Given the description of an element on the screen output the (x, y) to click on. 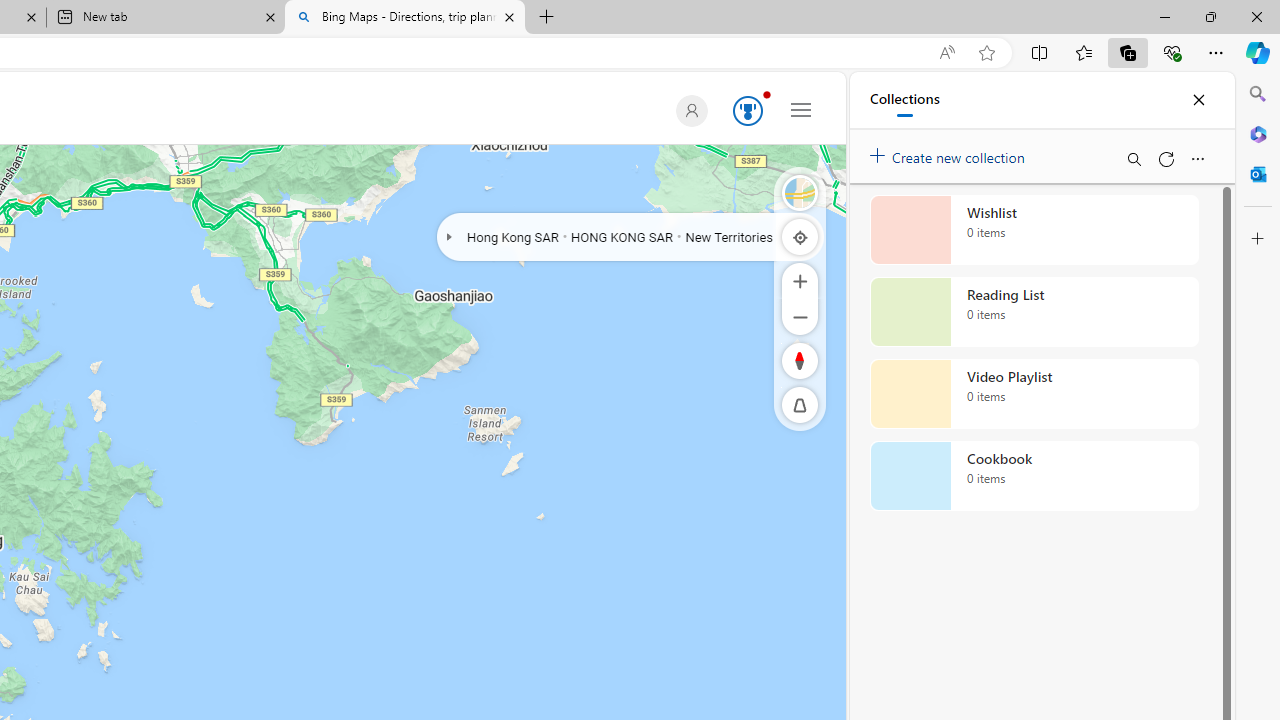
Microsoft Rewards 63 (744, 111)
Outlook (1258, 174)
Road (799, 192)
Zoom In (799, 280)
Zoom Out (799, 316)
Cookbook collection, 0 items (1034, 475)
Wishlist collection, 0 items (1034, 229)
Bird's eye (799, 192)
